Given the description of an element on the screen output the (x, y) to click on. 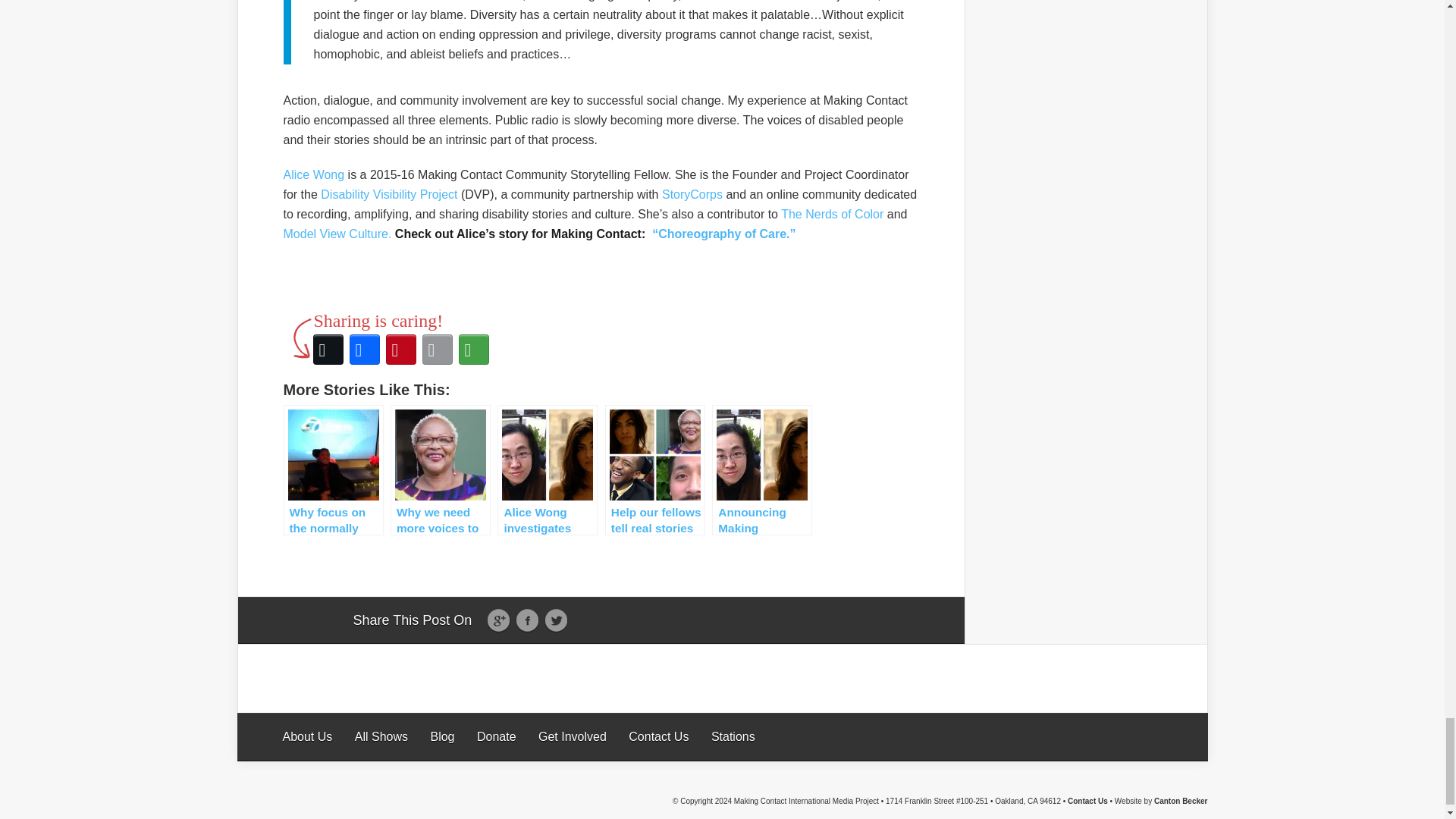
Email This (436, 349)
Facebook (363, 349)
More Options (473, 349)
Pinterest (400, 349)
